Given the description of an element on the screen output the (x, y) to click on. 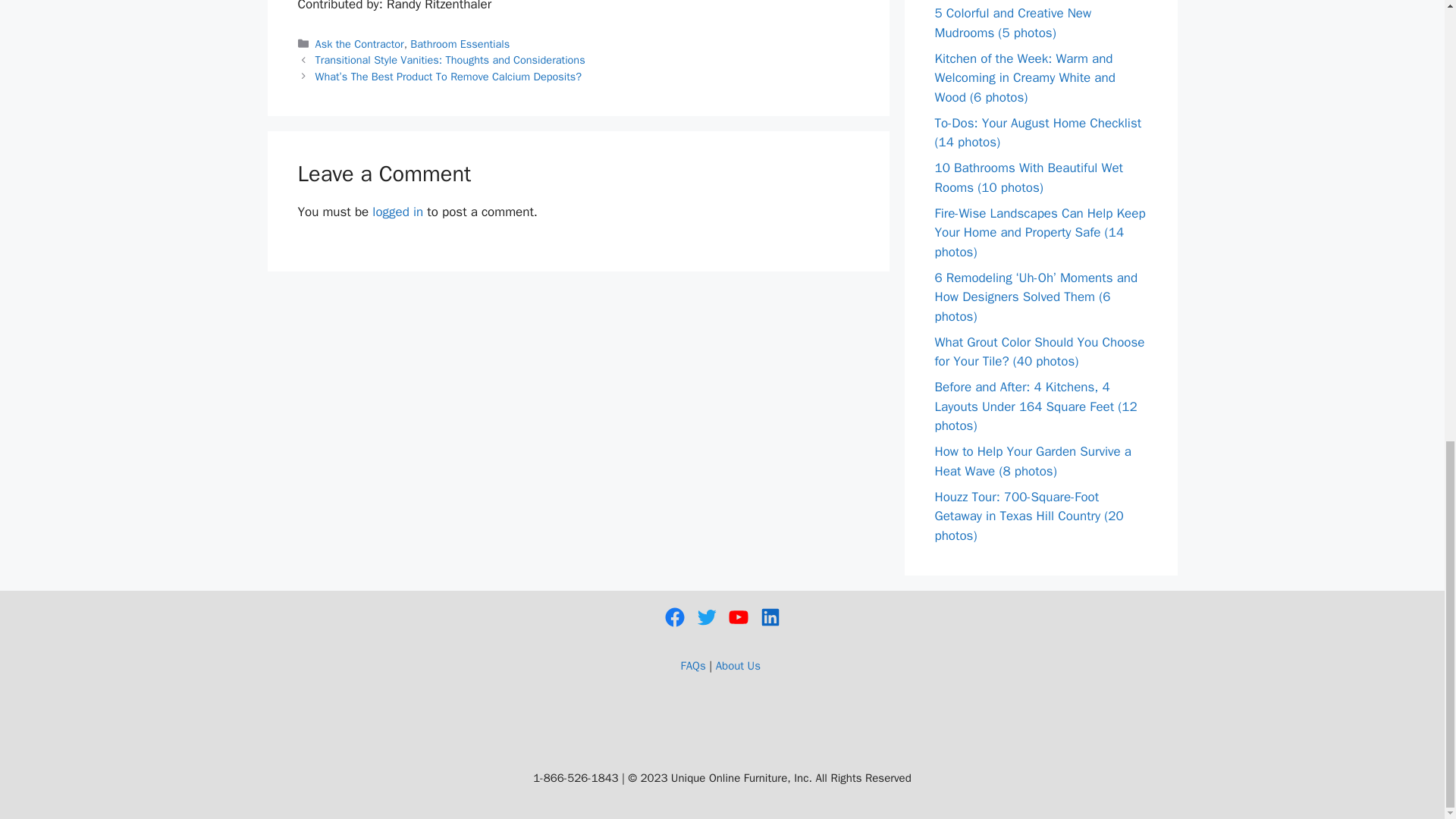
Scroll back to top (1406, 578)
About Us (738, 665)
FAQs (693, 665)
